Given the description of an element on the screen output the (x, y) to click on. 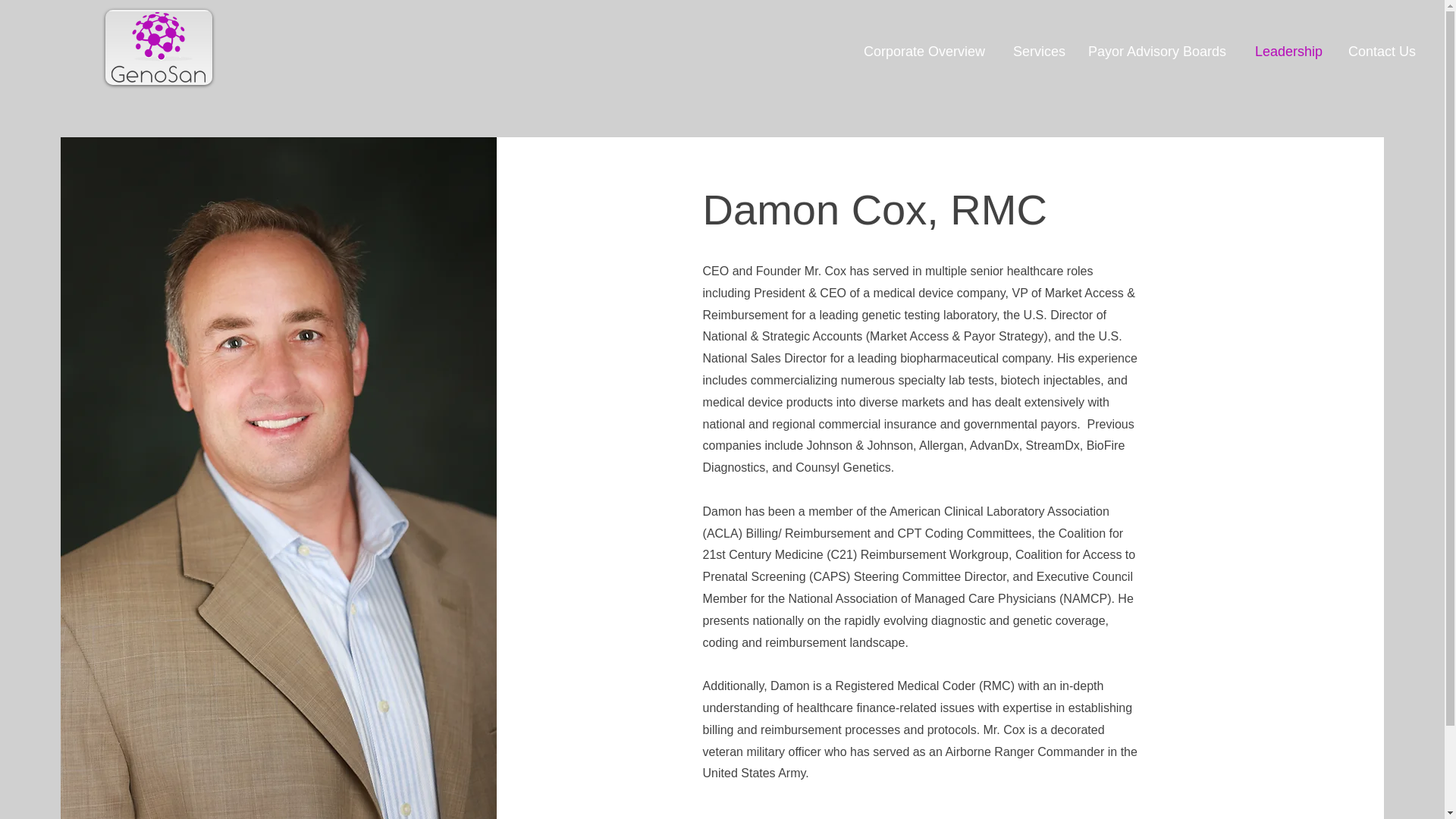
Services (1039, 51)
Payor Advisory Boards (1160, 51)
Leadership (1289, 51)
Corporate Overview (926, 51)
Contact Us (1382, 51)
